Given the description of an element on the screen output the (x, y) to click on. 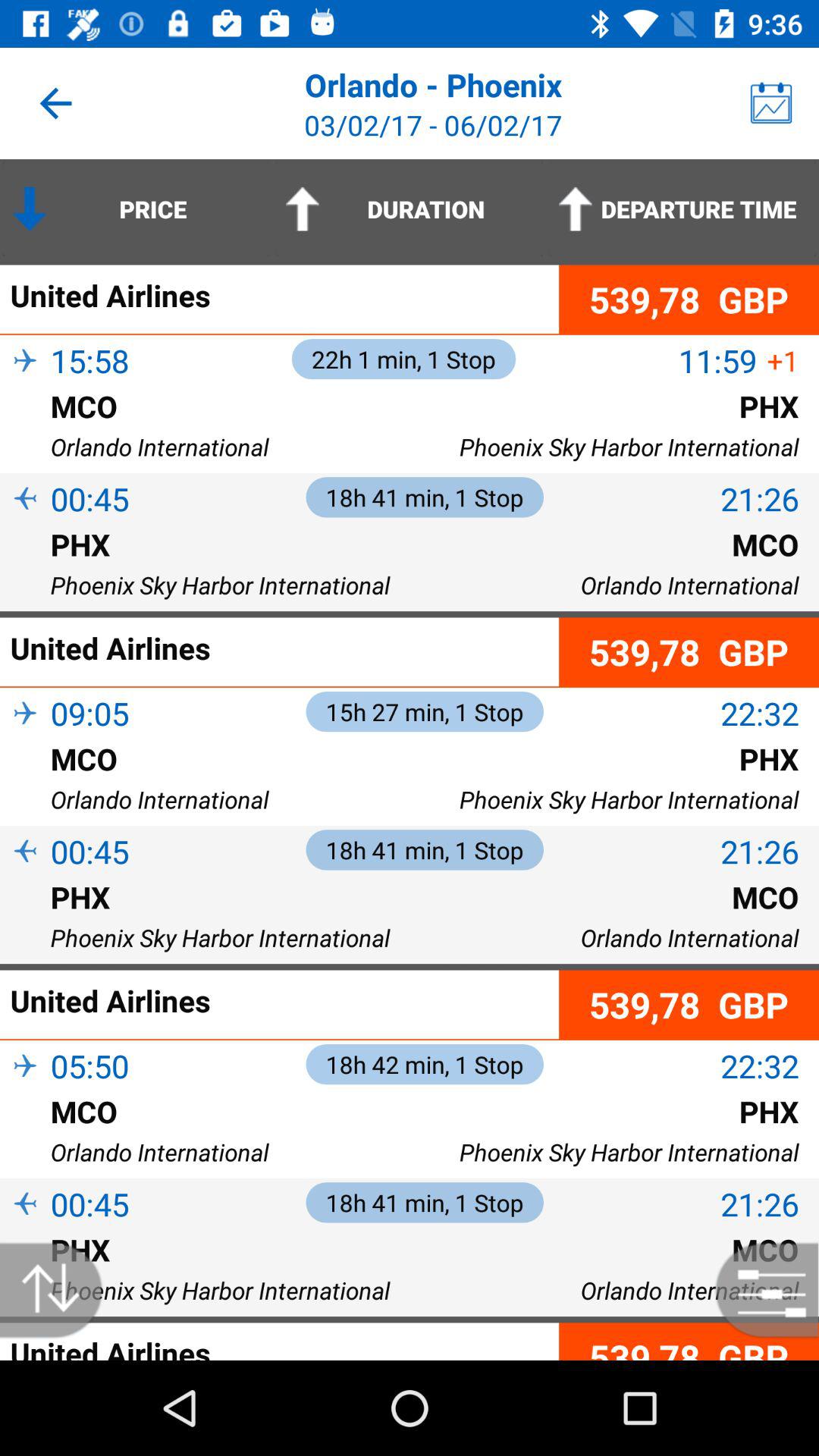
select item below the mco icon (25, 783)
